Given the description of an element on the screen output the (x, y) to click on. 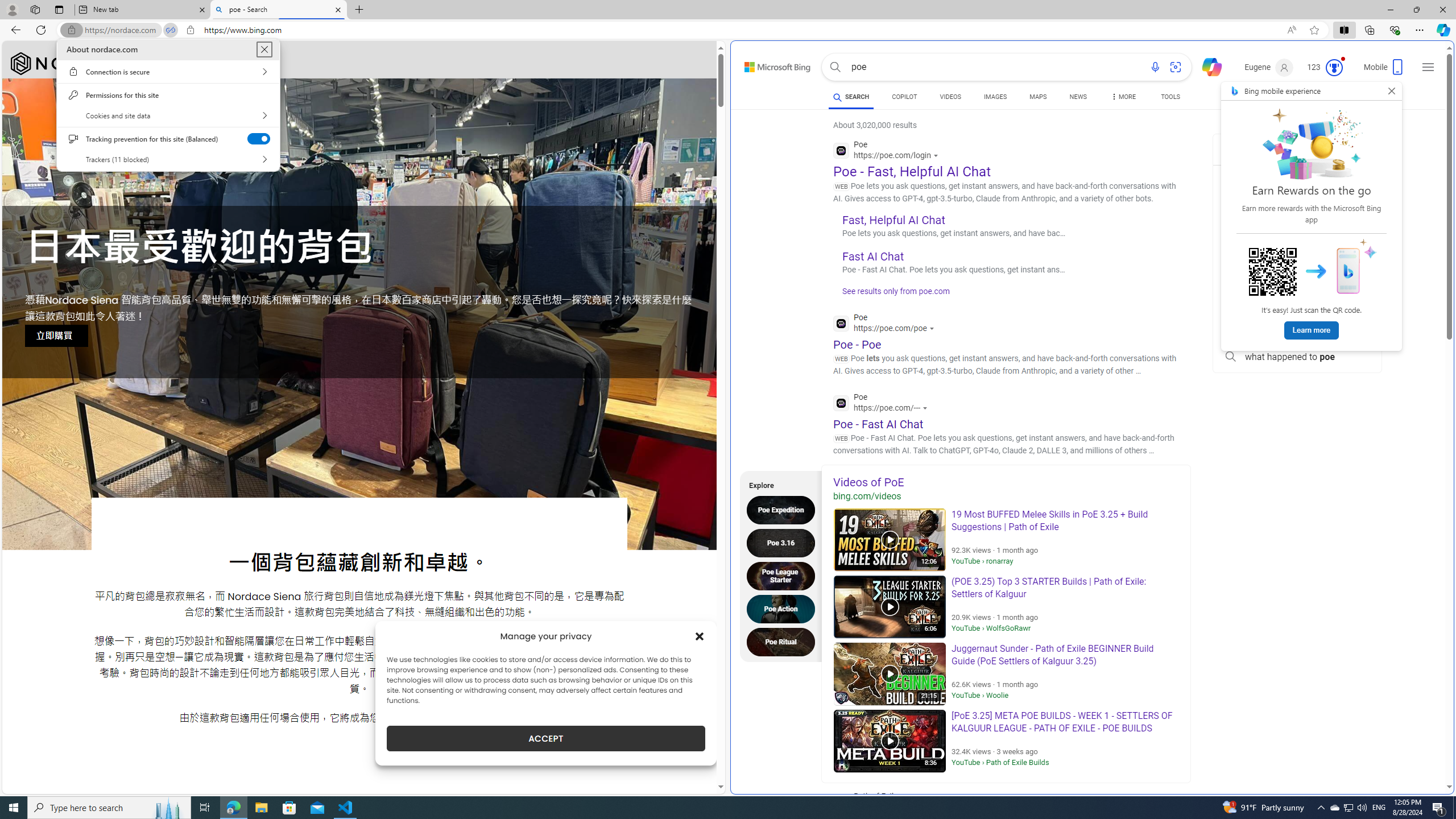
ACCEPT (545, 738)
Task View (1347, 807)
TOOLS (204, 807)
Microsoft Rewards 123 (1171, 98)
Explore (1325, 67)
Poe 3.16 (777, 483)
Trackers (11 blocked) (783, 542)
